Given the description of an element on the screen output the (x, y) to click on. 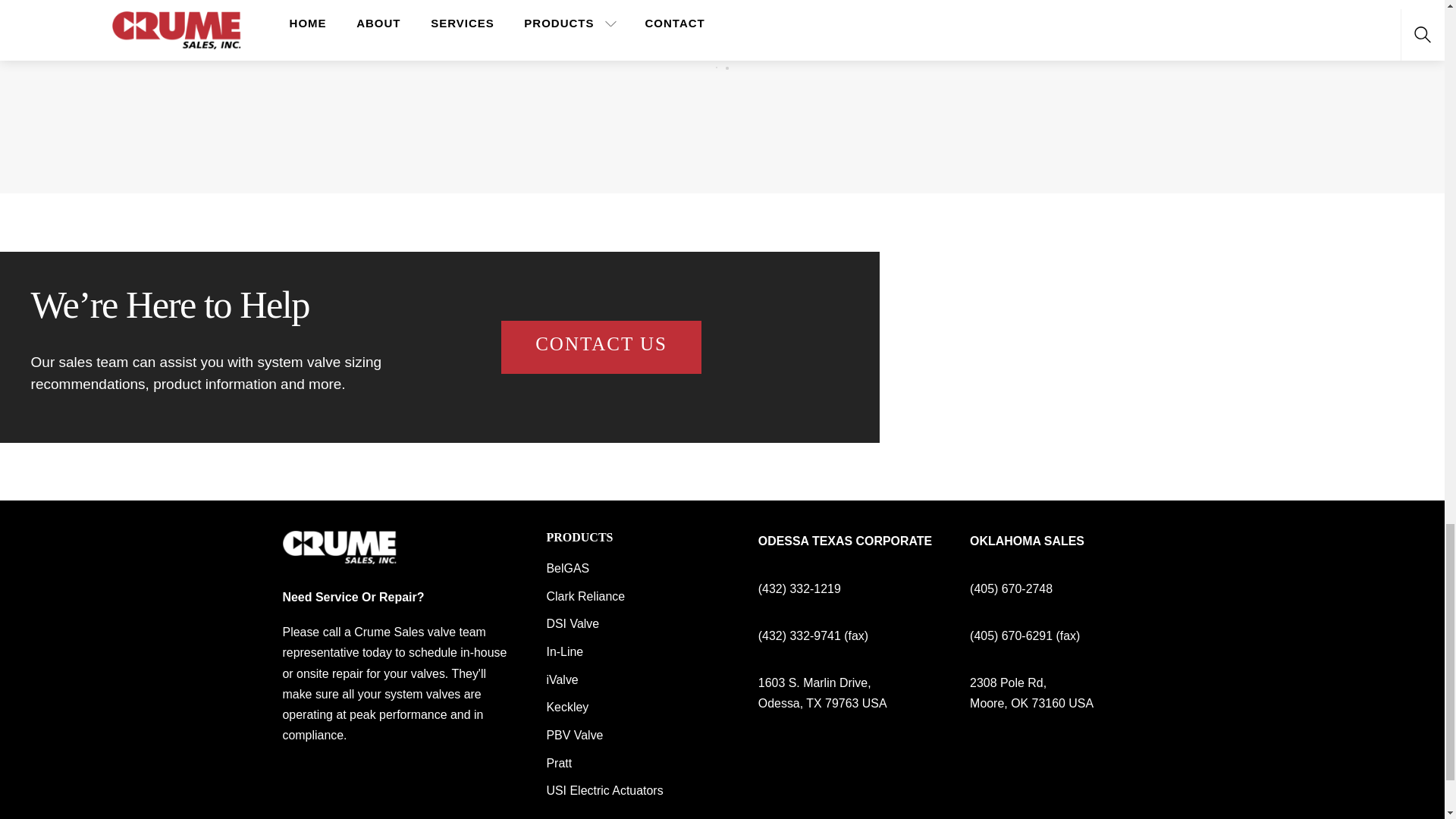
CONTACT US (600, 347)
Crume Sales (339, 557)
